Given the description of an element on the screen output the (x, y) to click on. 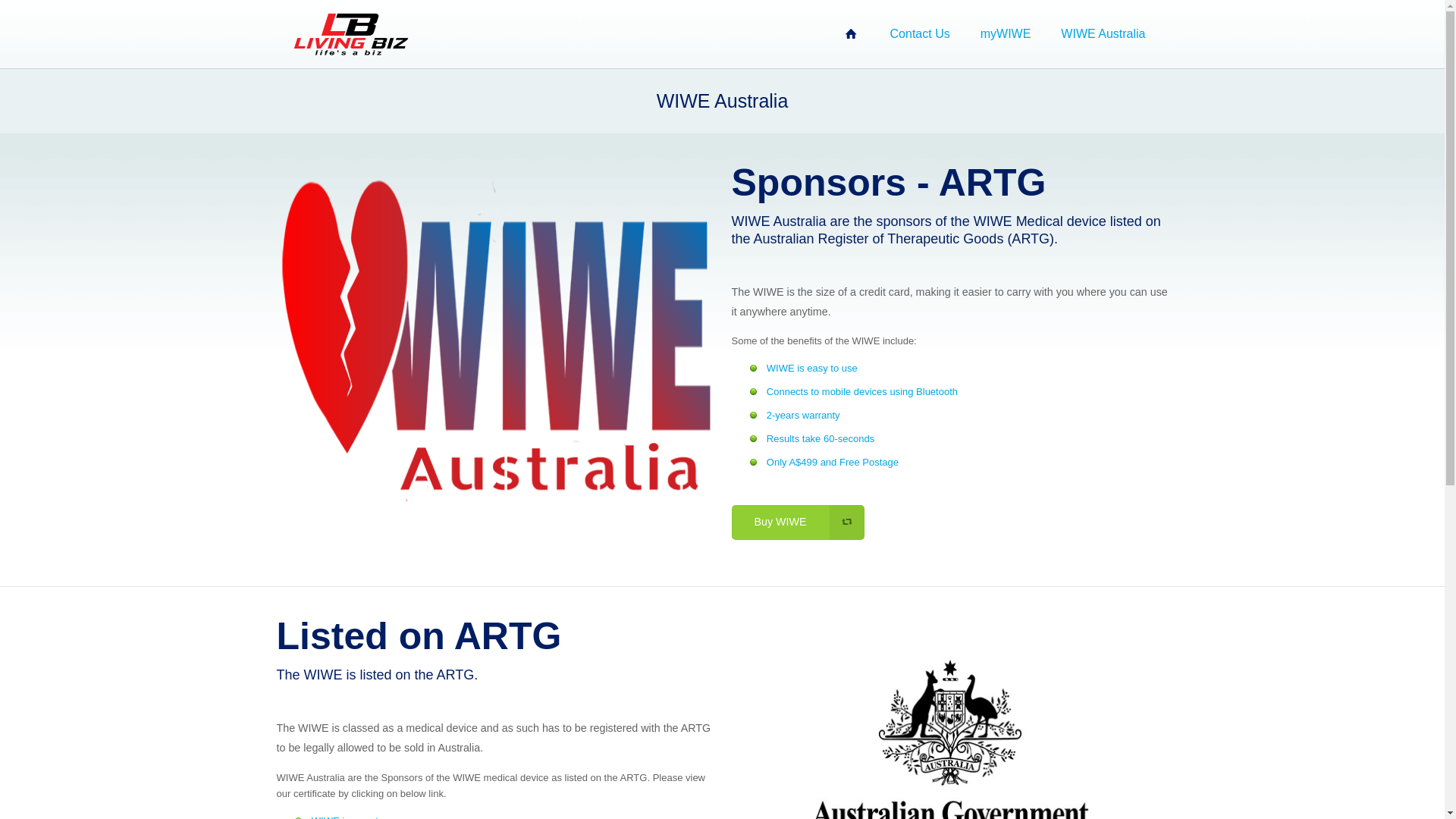
Buy WIWE Element type: text (797, 522)
Contact Us Element type: text (920, 34)
Only A$499 and Free Postage Element type: text (832, 461)
WIWE is easy to use Element type: text (811, 367)
WIWE Australia Element type: text (1102, 34)
Living BIZ Element type: hover (850, 34)
Living BIZ Element type: hover (350, 34)
Results take 60-seconds Element type: text (820, 438)
myWIWE Element type: text (1005, 34)
Connects to mobile devices using Bluetooth Element type: text (861, 391)
2-years warranty Element type: text (803, 414)
